Given the description of an element on the screen output the (x, y) to click on. 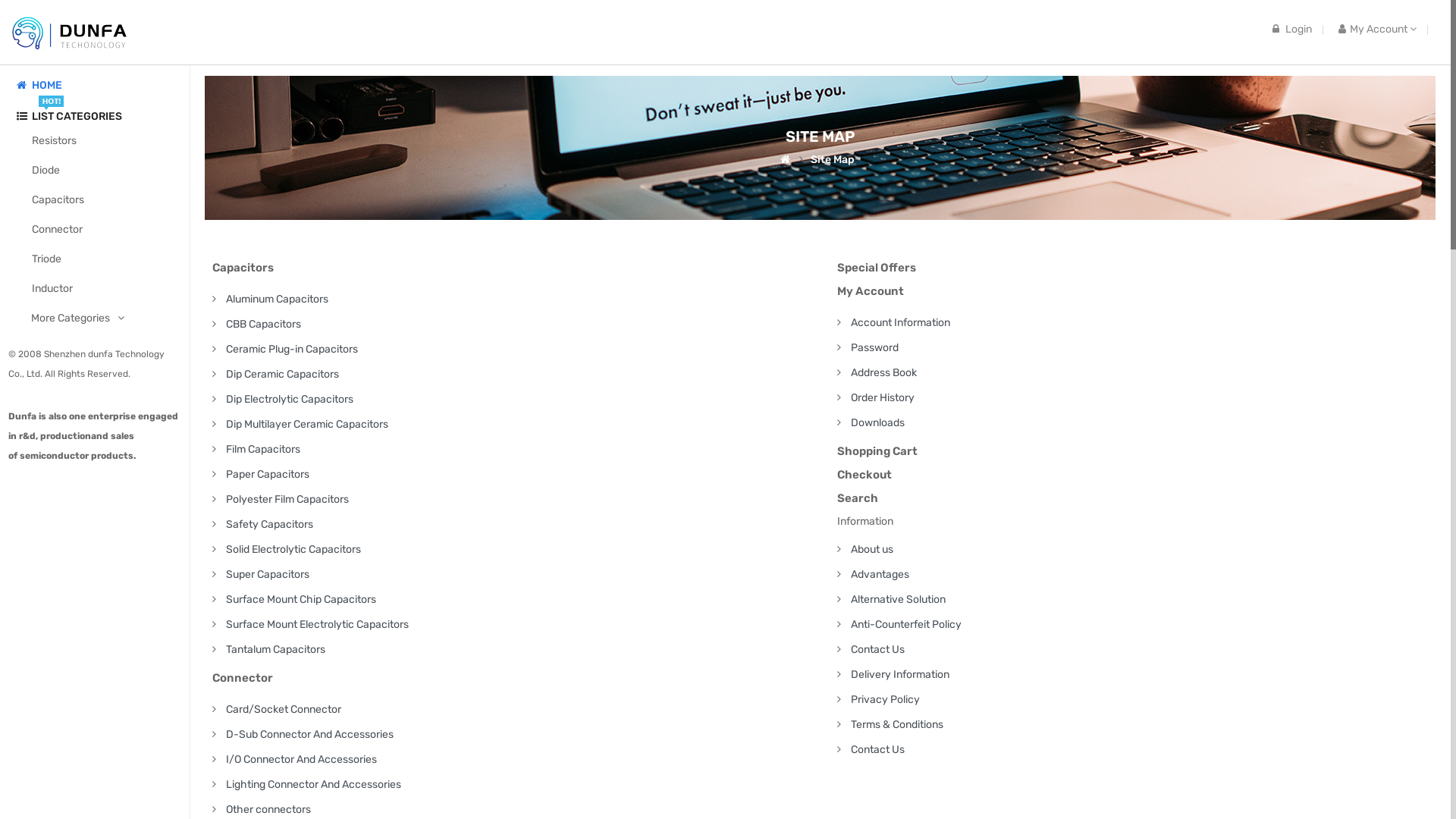
Advantages Element type: text (879, 573)
My Account Element type: text (1377, 28)
Aluminum Capacitors Element type: text (276, 298)
Resistors Element type: text (105, 140)
My Account Element type: text (1138, 291)
Capacitors Element type: text (513, 267)
Lighting Connector And Accessories Element type: text (313, 784)
Address Book Element type: text (883, 372)
Safety Capacitors Element type: text (269, 523)
Account Information Element type: text (900, 322)
Downloads Element type: text (877, 422)
Order History Element type: text (882, 397)
Dip Ceramic Capacitors Element type: text (281, 373)
Triode Element type: text (105, 258)
Other connectors Element type: text (267, 809)
Contact Us Element type: text (877, 749)
Solid Electrolytic Capacitors Element type: text (292, 548)
D-Sub Connector And Accessories Element type: text (309, 734)
Search Element type: text (1138, 498)
Connector Element type: text (105, 229)
Dip Multilayer Ceramic Capacitors Element type: text (306, 423)
Card/Socket Connector Element type: text (283, 708)
Polyester Film Capacitors Element type: text (286, 498)
Rapidtronics Element type: hover (69, 31)
Anti-Counterfeit Policy Element type: text (905, 624)
Checkout Element type: text (1138, 474)
Shenzhen dunfa Technology Co., Ltd Element type: text (86, 363)
Tantalum Capacitors Element type: text (275, 649)
Inductor Element type: text (105, 288)
Diode Element type: text (105, 170)
Capacitors Element type: text (105, 199)
Contact Us Element type: text (877, 649)
Login Element type: text (1291, 28)
Film Capacitors Element type: text (262, 448)
Super Capacitors Element type: text (267, 573)
Dip Electrolytic Capacitors Element type: text (289, 398)
LIST CATEGORIES Element type: text (105, 115)
Surface Mount Electrolytic Capacitors Element type: text (316, 624)
Terms & Conditions Element type: text (896, 724)
Connector Element type: text (513, 677)
CBB Capacitors Element type: text (263, 323)
Paper Capacitors Element type: text (267, 473)
Privacy Policy Element type: text (884, 699)
Special Offers Element type: text (1138, 267)
Site Map Element type: text (832, 159)
About us Element type: text (871, 548)
I/O Connector And Accessories Element type: text (300, 759)
Ceramic Plug-in Capacitors Element type: text (291, 348)
Delivery Information Element type: text (899, 674)
Surface Mount Chip Capacitors Element type: text (300, 599)
Alternative Solution Element type: text (897, 599)
Shopping Cart Element type: text (1138, 451)
Password Element type: text (874, 347)
HOME Element type: text (46, 84)
